Given the description of an element on the screen output the (x, y) to click on. 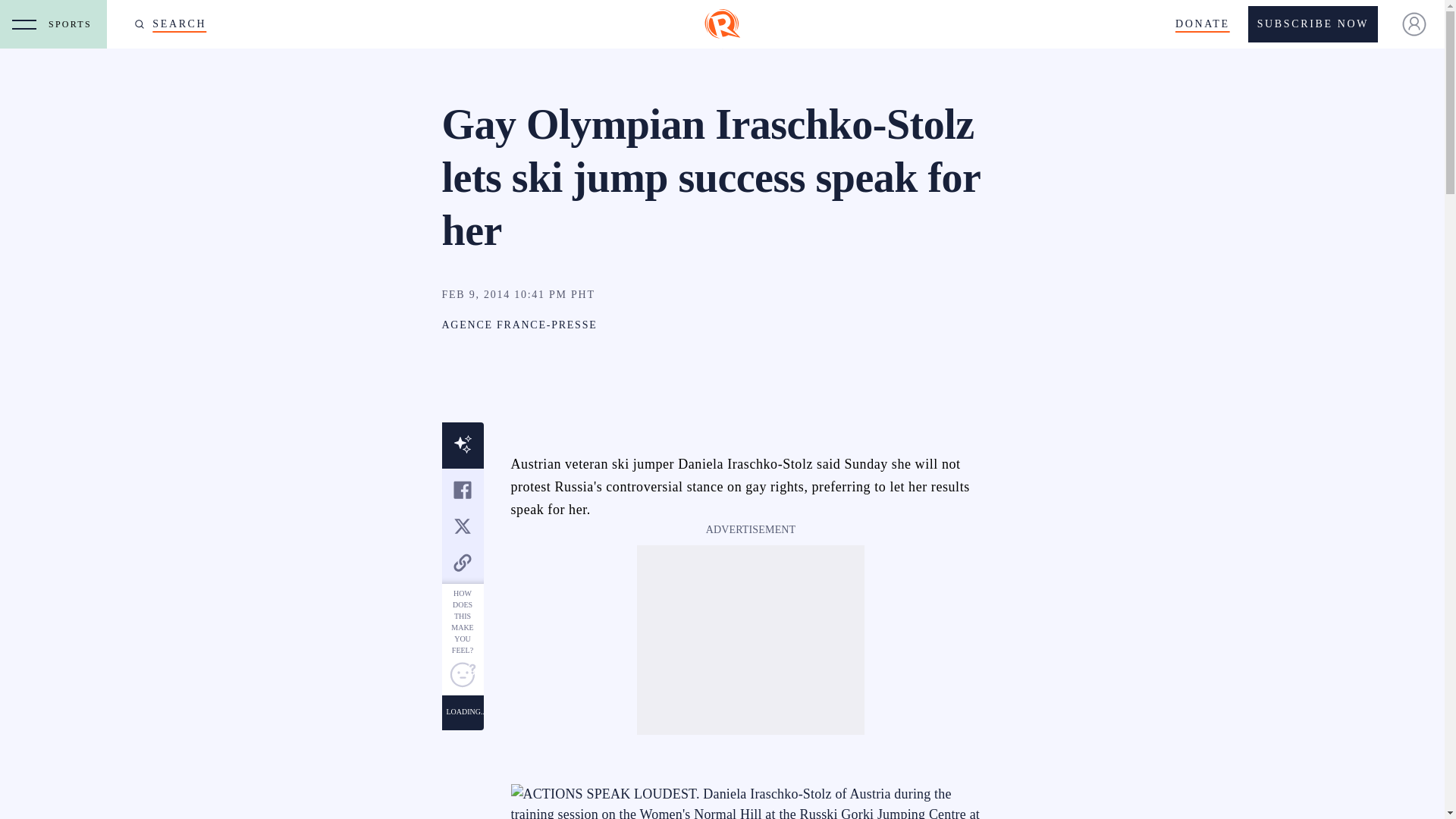
OPEN NAVIGATION (24, 24)
SPORTS (73, 23)
